Given the description of an element on the screen output the (x, y) to click on. 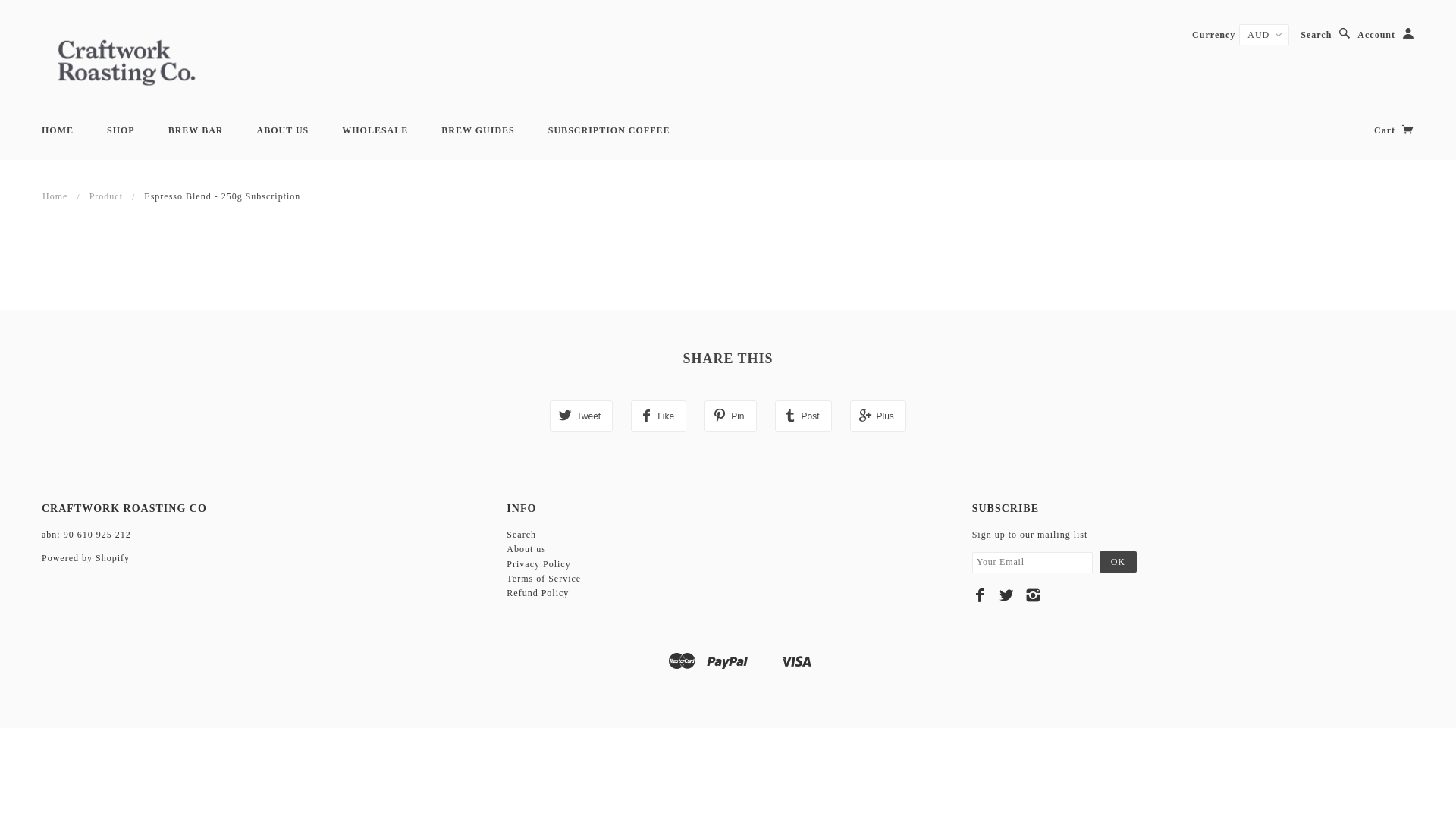
Craftwork Roasting Company Element type: hover (126, 60)
SHOP Element type: text (120, 130)
Search Element type: text (1325, 35)
Account Element type: text (1385, 35)
Like Element type: text (658, 416)
Post Element type: text (803, 416)
Cart Element type: text (1394, 130)
Privacy Policy Element type: text (538, 563)
ABOUT US Element type: text (282, 130)
Home Element type: text (54, 196)
BREW BAR Element type: text (195, 130)
WHOLESALE Element type: text (374, 130)
Search Element type: text (521, 534)
HOME Element type: text (57, 130)
SUBSCRIPTION COFFEE Element type: text (609, 130)
Product Element type: text (105, 196)
Terms of Service Element type: text (543, 578)
OK Element type: text (1117, 561)
Powered by Shopify Element type: text (85, 557)
Refund Policy Element type: text (537, 592)
Tweet Element type: text (580, 416)
Instagram Element type: hover (1033, 594)
Facebook Element type: hover (980, 594)
Plus Element type: text (878, 416)
BREW GUIDES Element type: text (477, 130)
Pin Element type: text (730, 416)
Twitter Element type: hover (1006, 594)
About us Element type: text (526, 548)
